Given the description of an element on the screen output the (x, y) to click on. 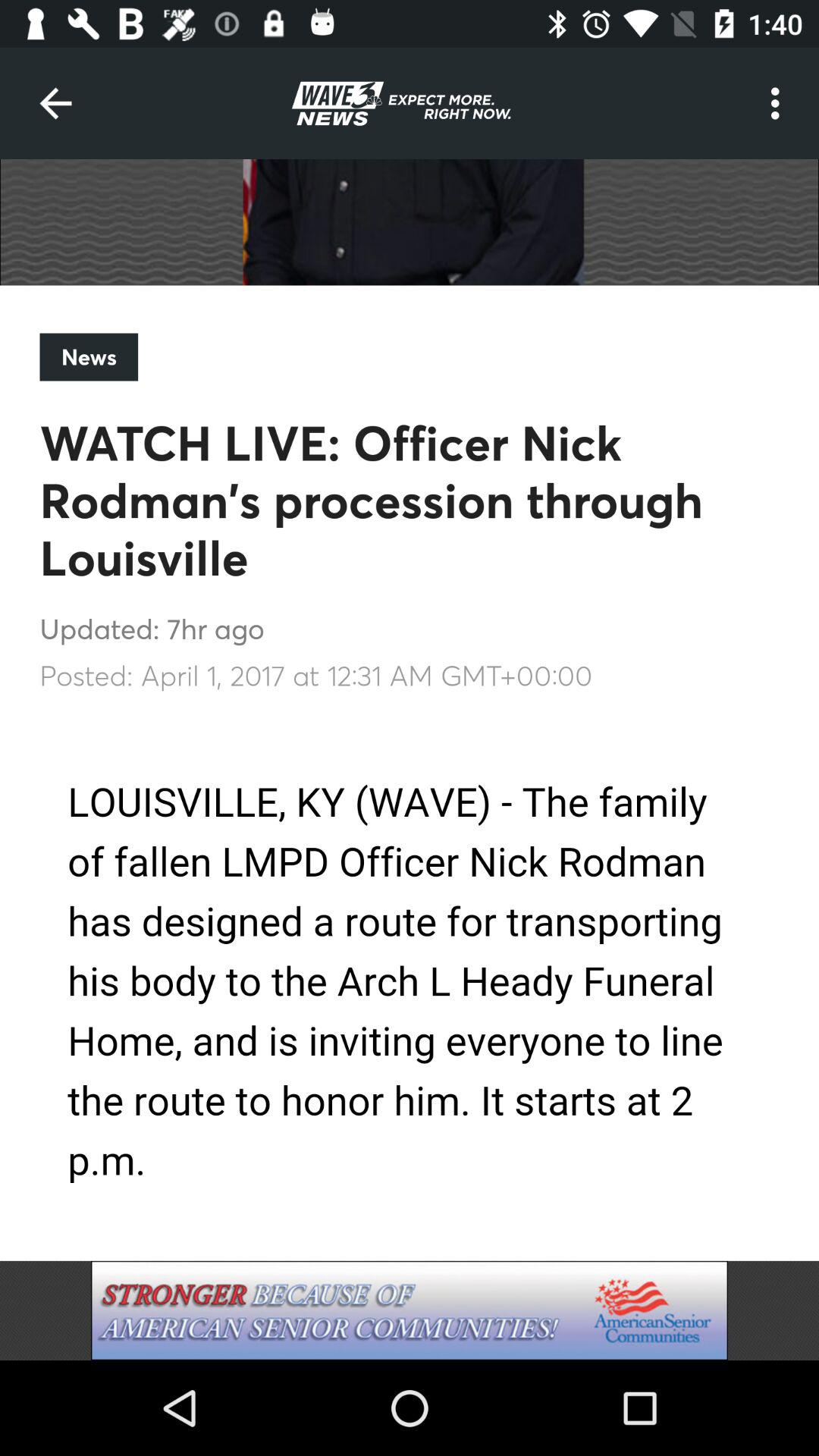
add option (409, 1310)
